Given the description of an element on the screen output the (x, y) to click on. 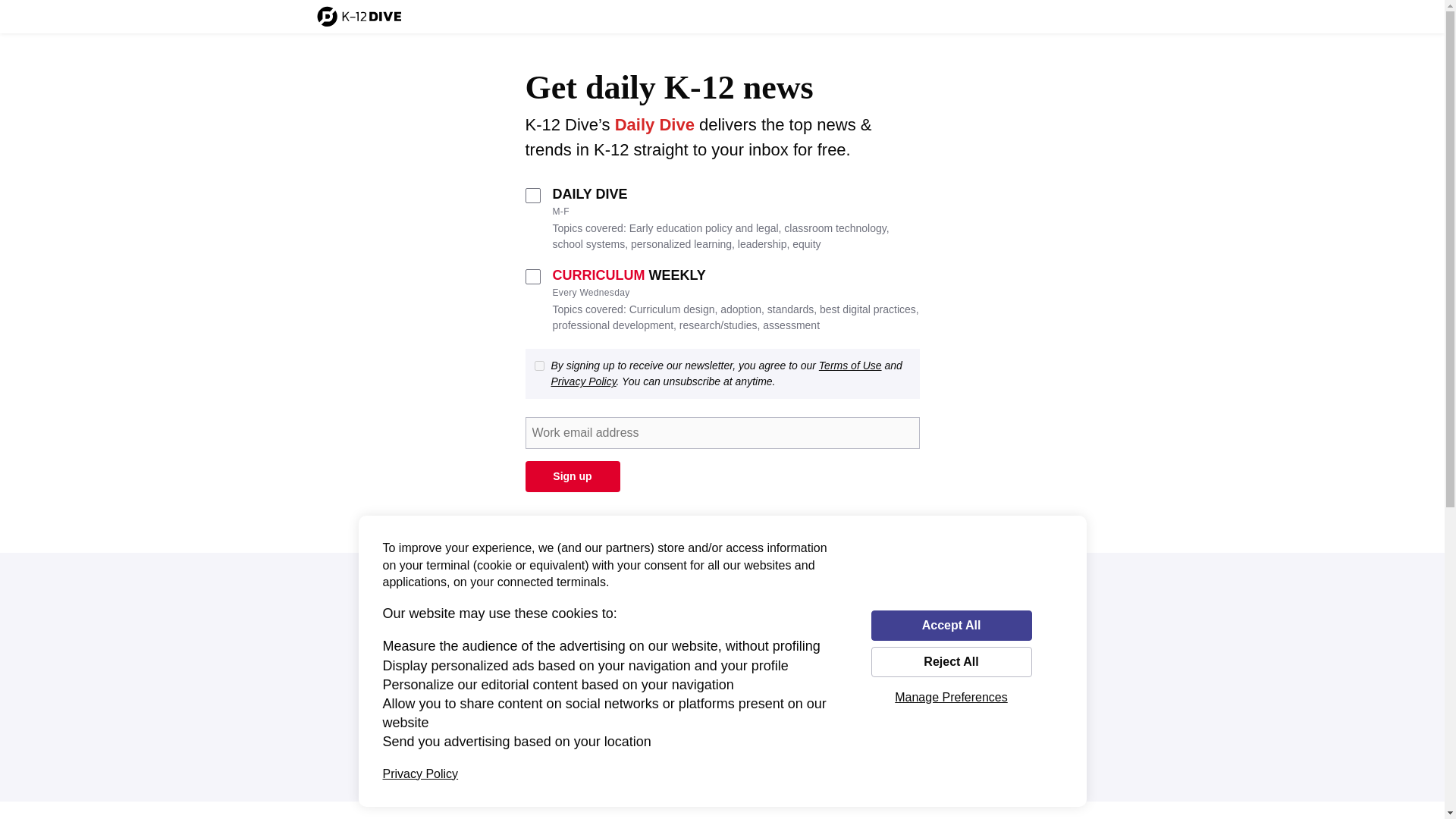
Sign up (572, 476)
1 (538, 366)
Privacy Policy (419, 773)
Privacy Policy (582, 381)
Terms of Use (850, 365)
Manage Preferences (950, 697)
Sign up (572, 476)
Accept All (950, 625)
Reject All (950, 662)
